Given the description of an element on the screen output the (x, y) to click on. 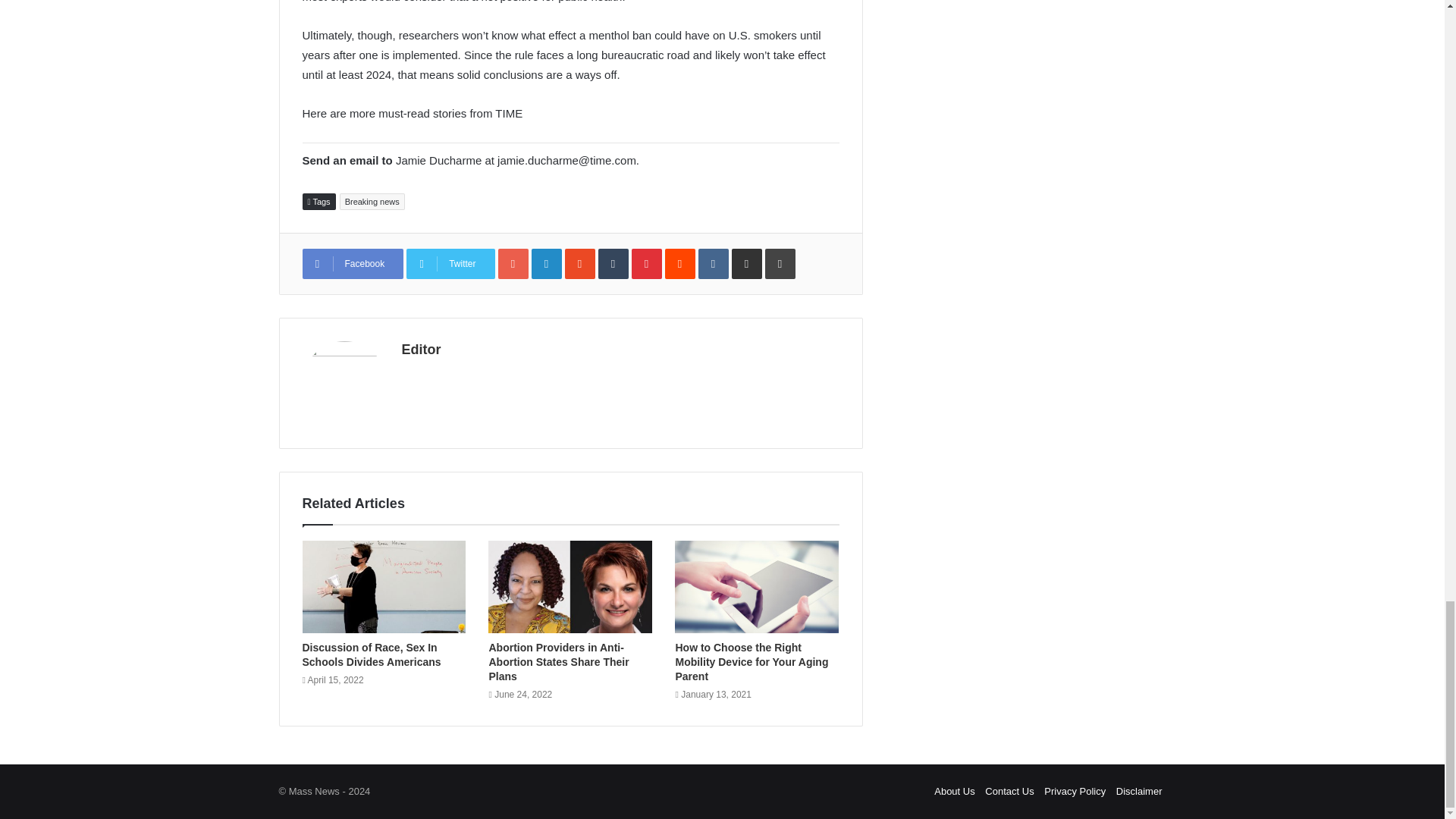
Print (779, 263)
Facebook (352, 263)
Breaking news (371, 201)
Editor (421, 349)
Reddit (680, 263)
Share via Email (746, 263)
Tumblr (613, 263)
LinkedIn (546, 263)
StumbleUpon (579, 263)
Twitter (450, 263)
Pinterest (646, 263)
VKontakte (713, 263)
